Given the description of an element on the screen output the (x, y) to click on. 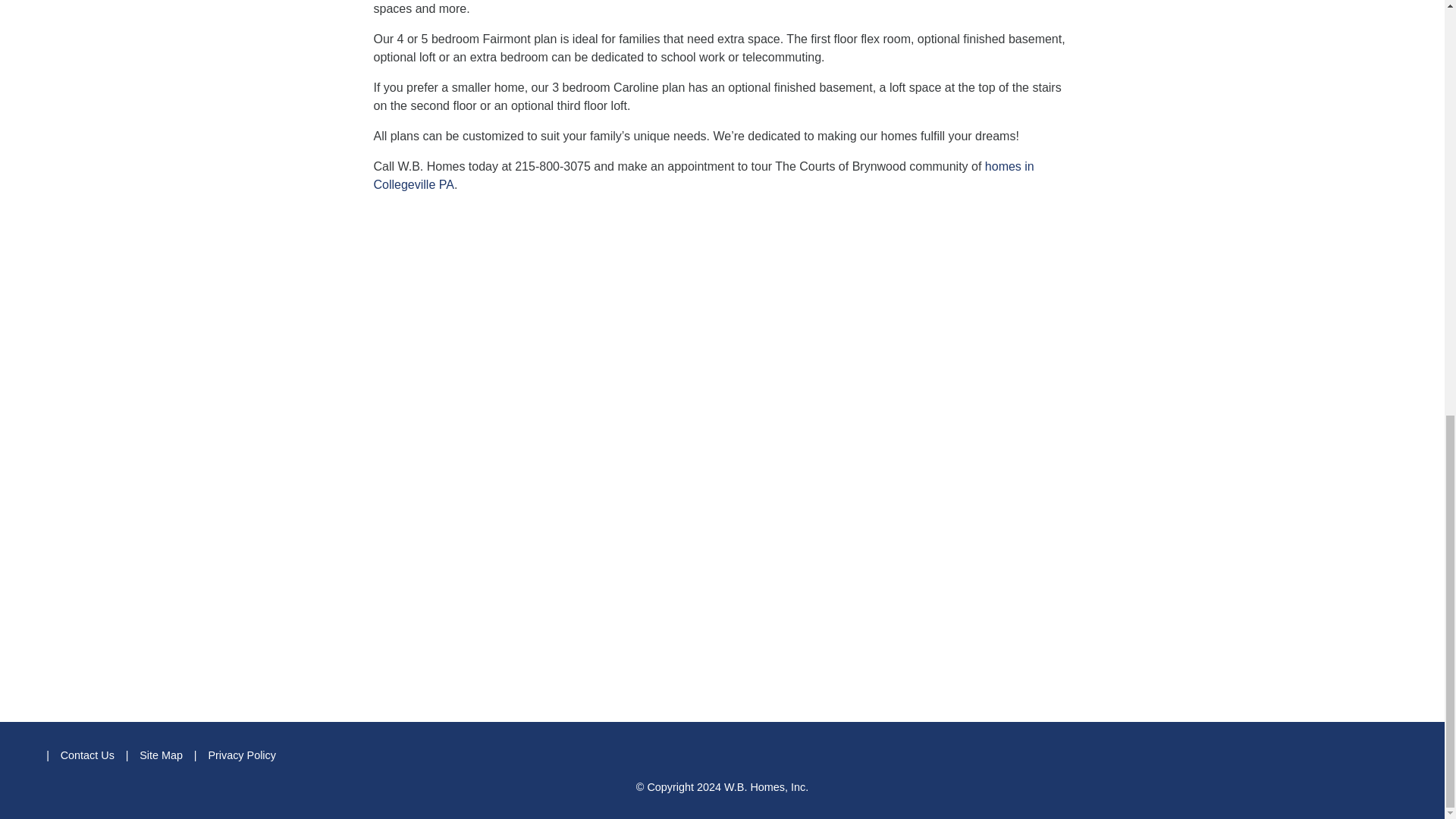
Site Map (161, 755)
homes in Collegeville PA (702, 174)
Contact Us (88, 755)
Privacy Policy (242, 755)
